Given the description of an element on the screen output the (x, y) to click on. 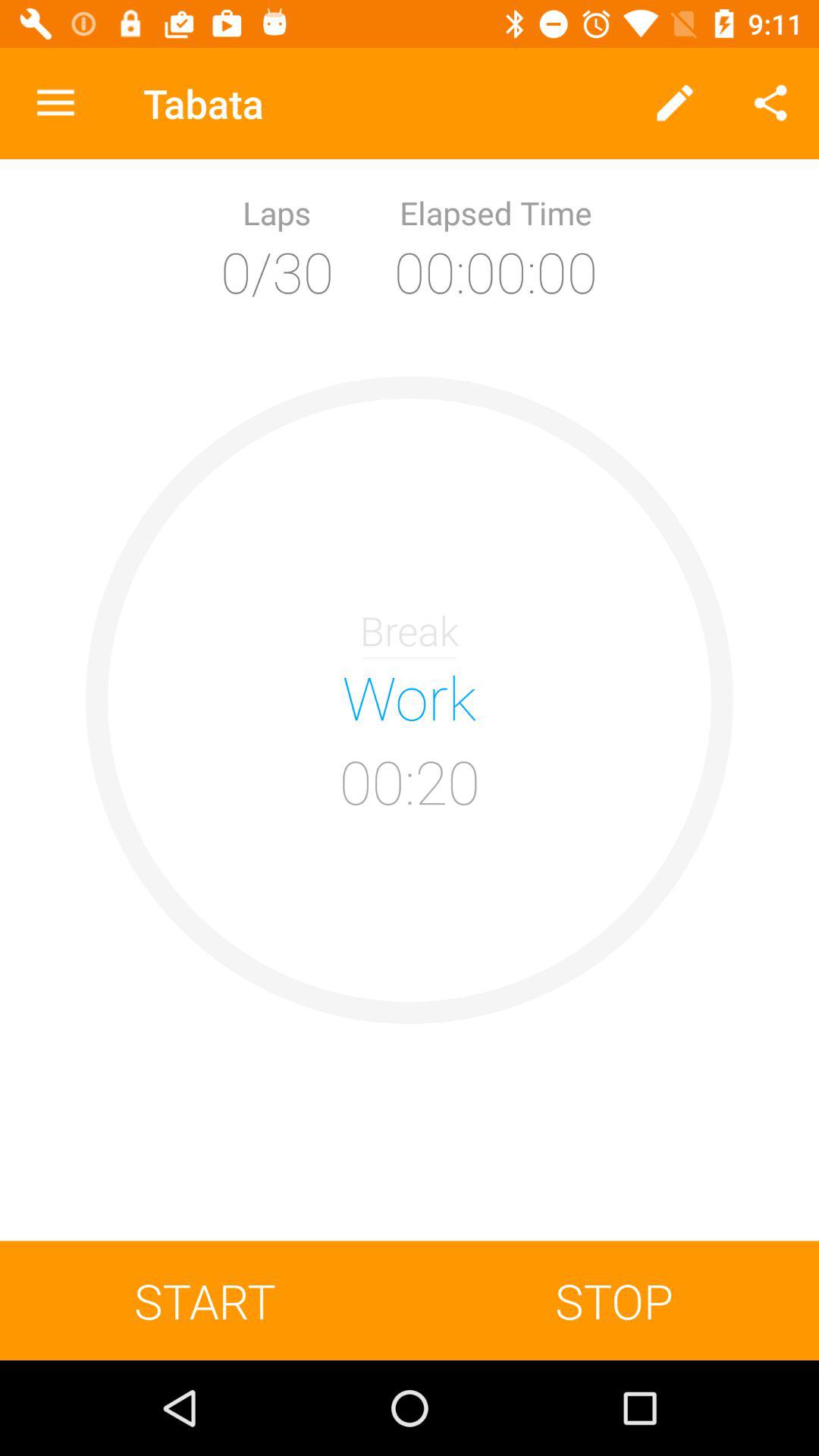
turn off the item to the left of stop (204, 1300)
